Given the description of an element on the screen output the (x, y) to click on. 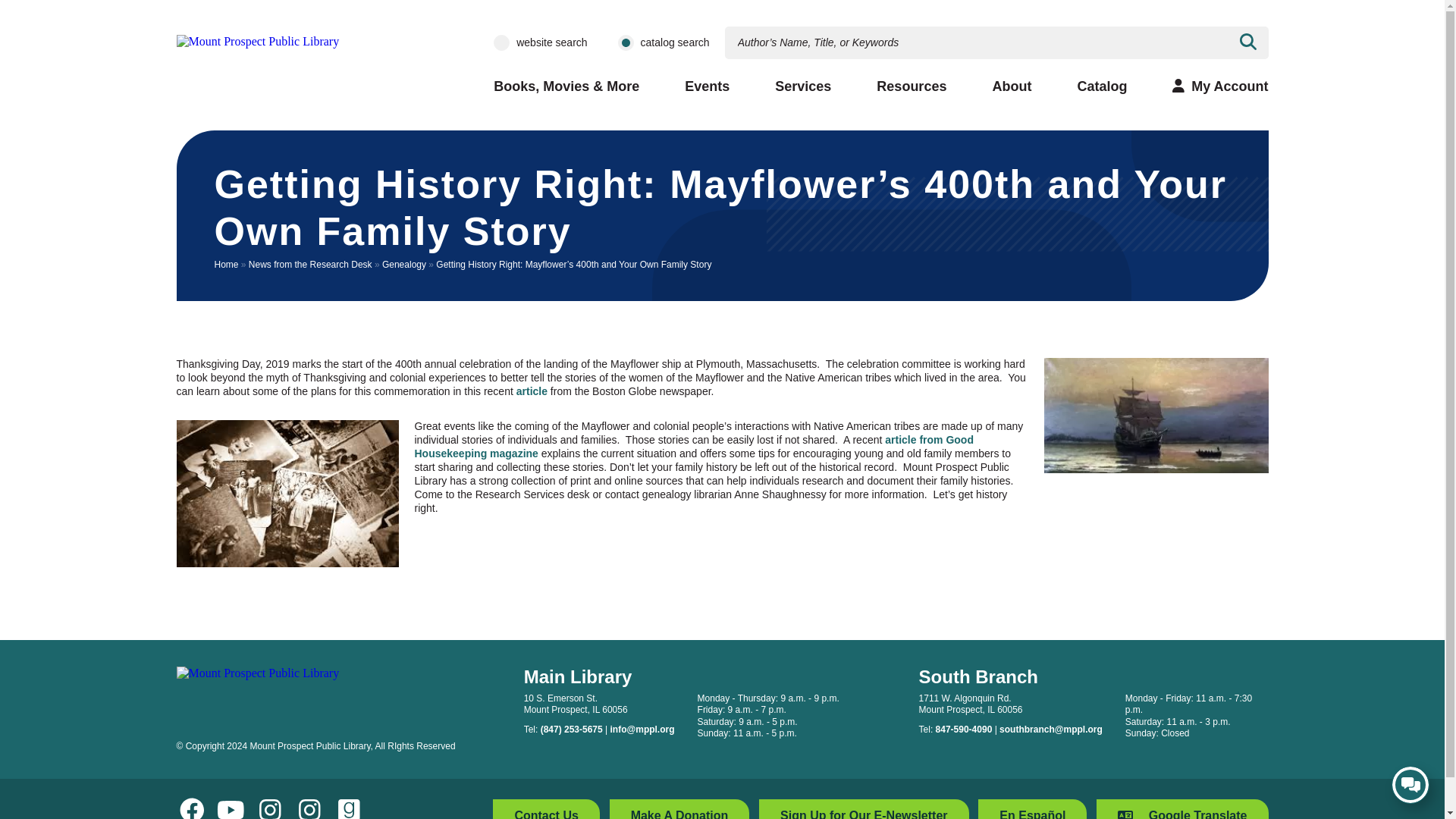
website (501, 42)
catalog (625, 42)
Services (802, 86)
Events (707, 86)
catalog (625, 42)
website (501, 42)
Books, Movies, and More: Browse our selection (566, 86)
